Given the description of an element on the screen output the (x, y) to click on. 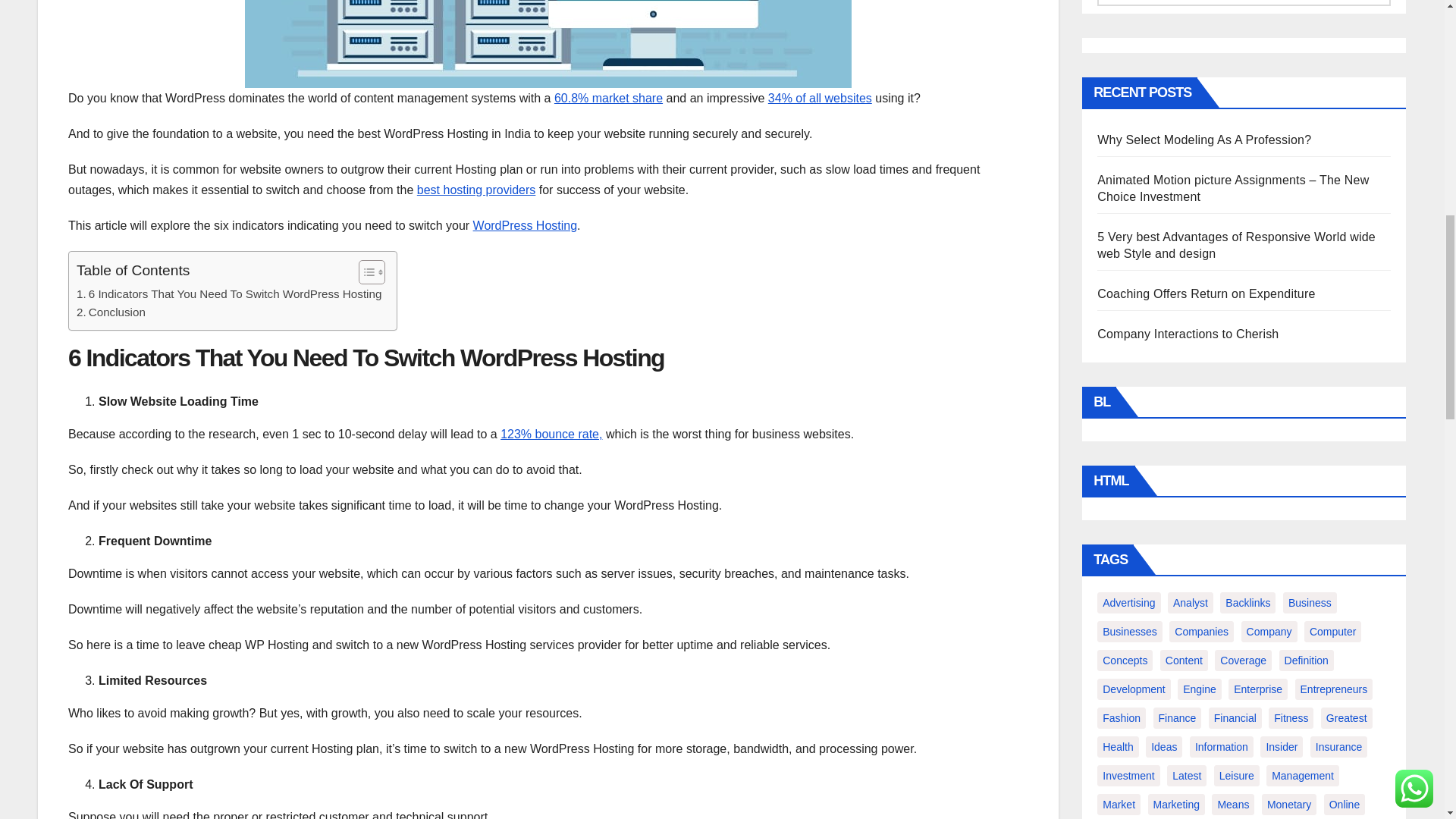
best hosting providers (475, 189)
WordPress Hosting (525, 225)
6 Indicators That You Need To Switch WordPress Hosting (229, 294)
6 Indicators That You Need To Switch WordPress Hosting (229, 294)
Conclusion (111, 312)
Conclusion (111, 312)
